Given the description of an element on the screen output the (x, y) to click on. 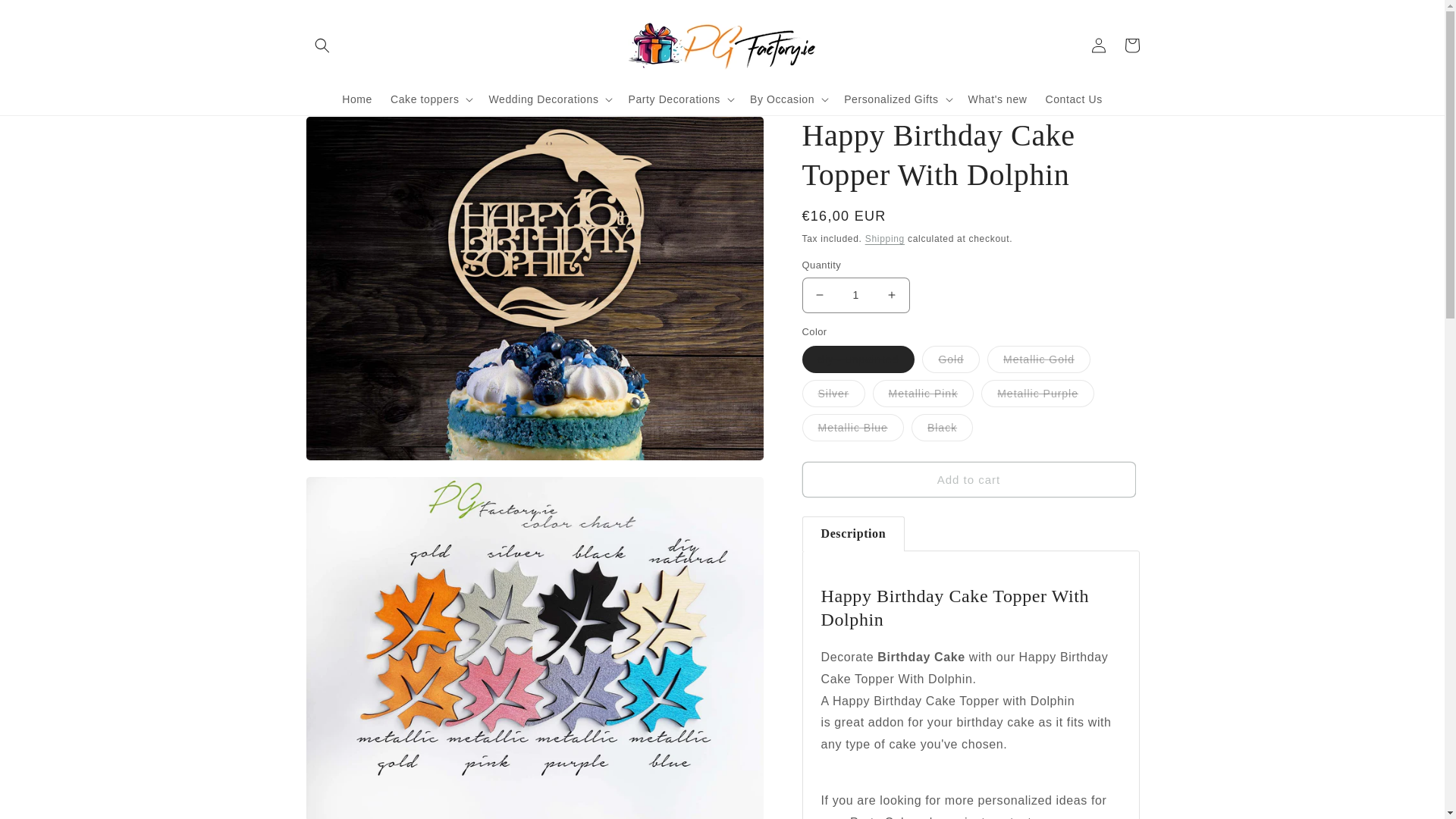
1 (856, 294)
Skip to content (45, 17)
